Given the description of an element on the screen output the (x, y) to click on. 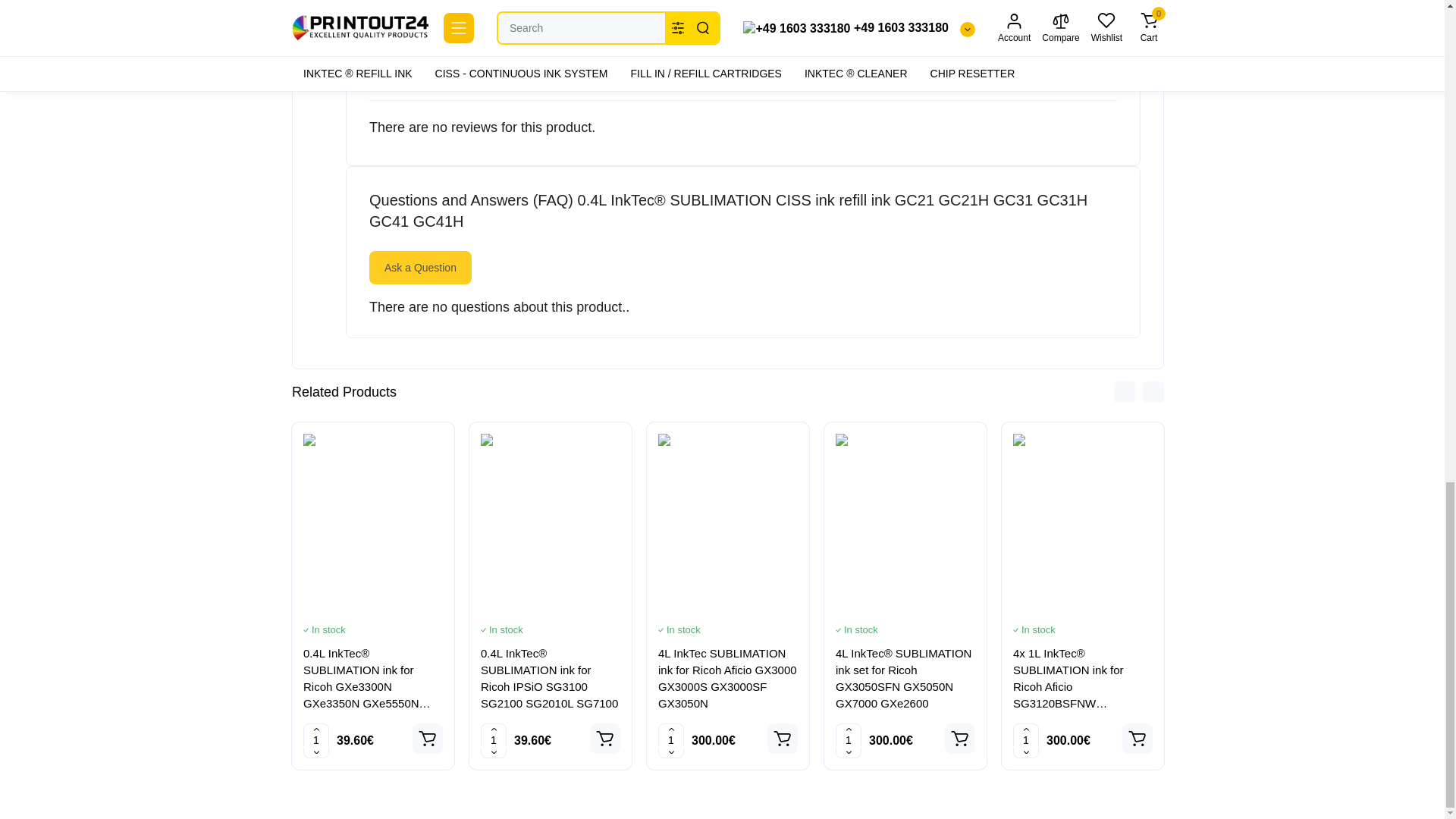
1 (1026, 739)
1 (671, 739)
1 (848, 739)
1 (493, 739)
1 (315, 739)
